Given the description of an element on the screen output the (x, y) to click on. 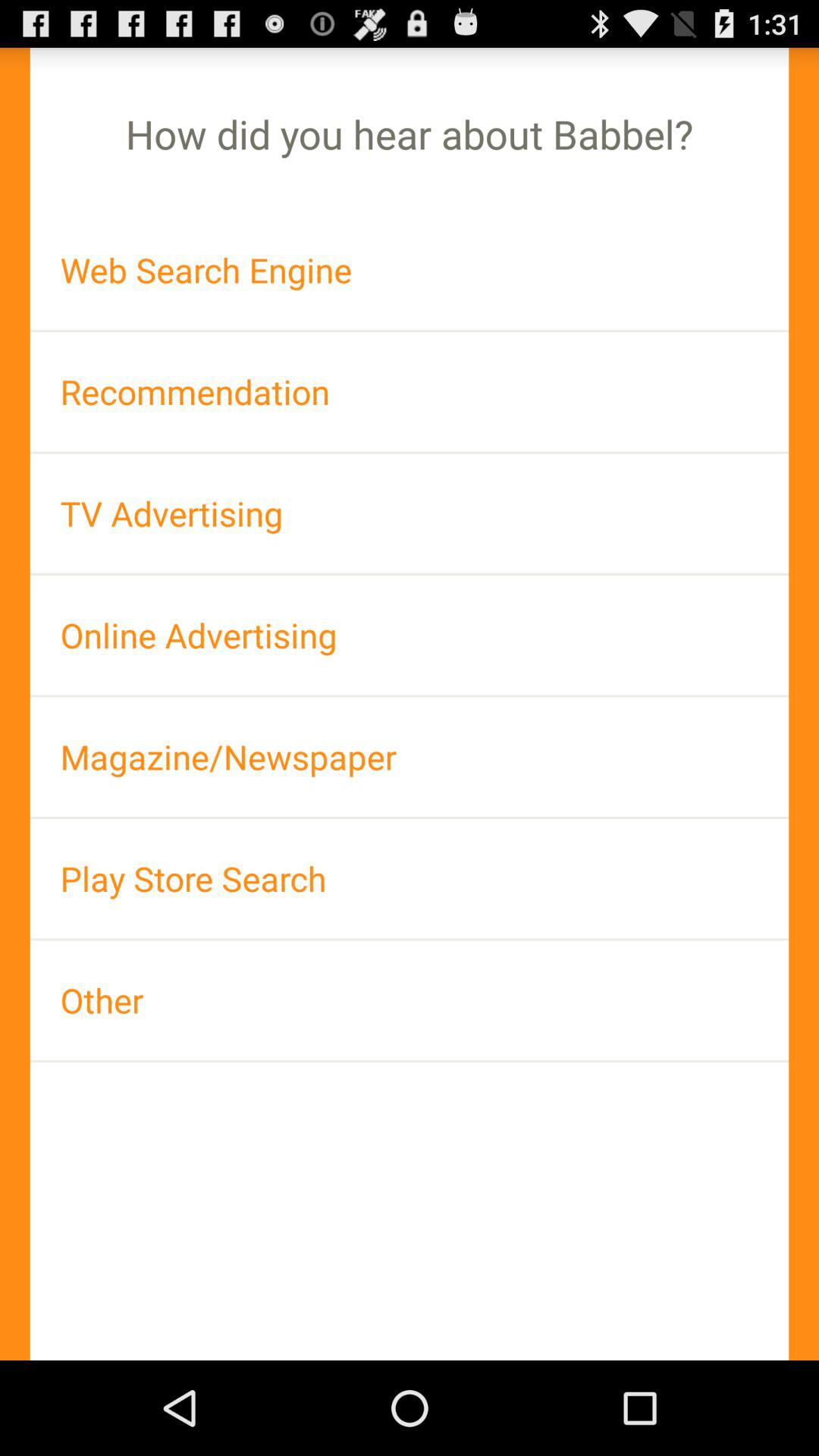
tap the tv advertising item (409, 513)
